Given the description of an element on the screen output the (x, y) to click on. 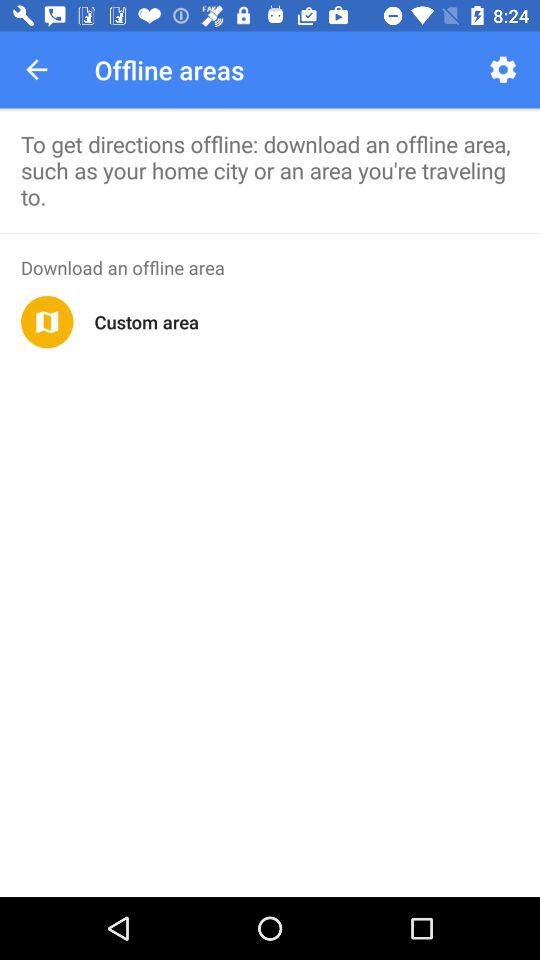
click the app above the download an offline (270, 233)
